Given the description of an element on the screen output the (x, y) to click on. 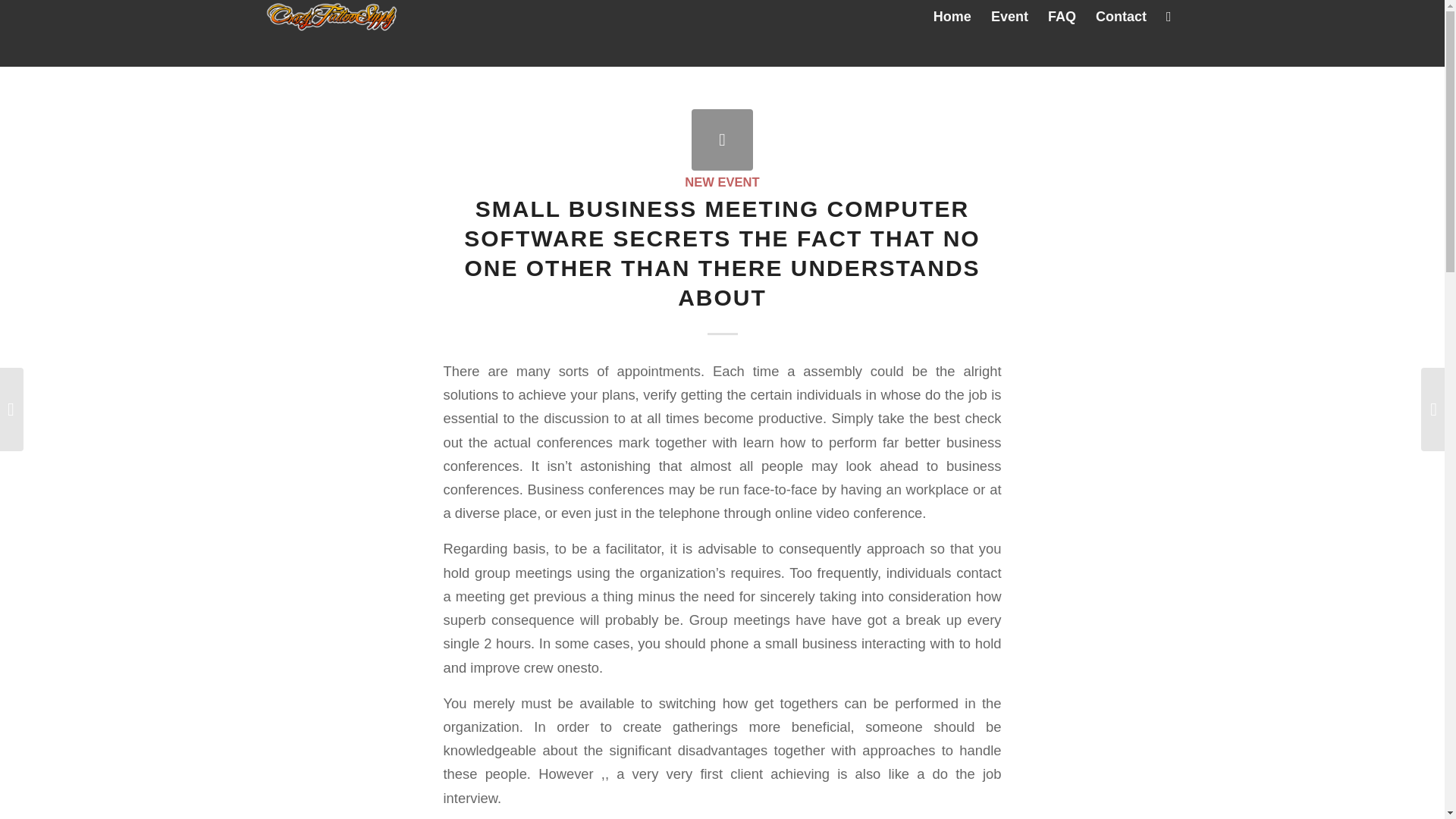
Contact (1121, 17)
Event (1009, 17)
Home (952, 17)
FAQ (1062, 17)
NEW EVENT (721, 182)
